Given the description of an element on the screen output the (x, y) to click on. 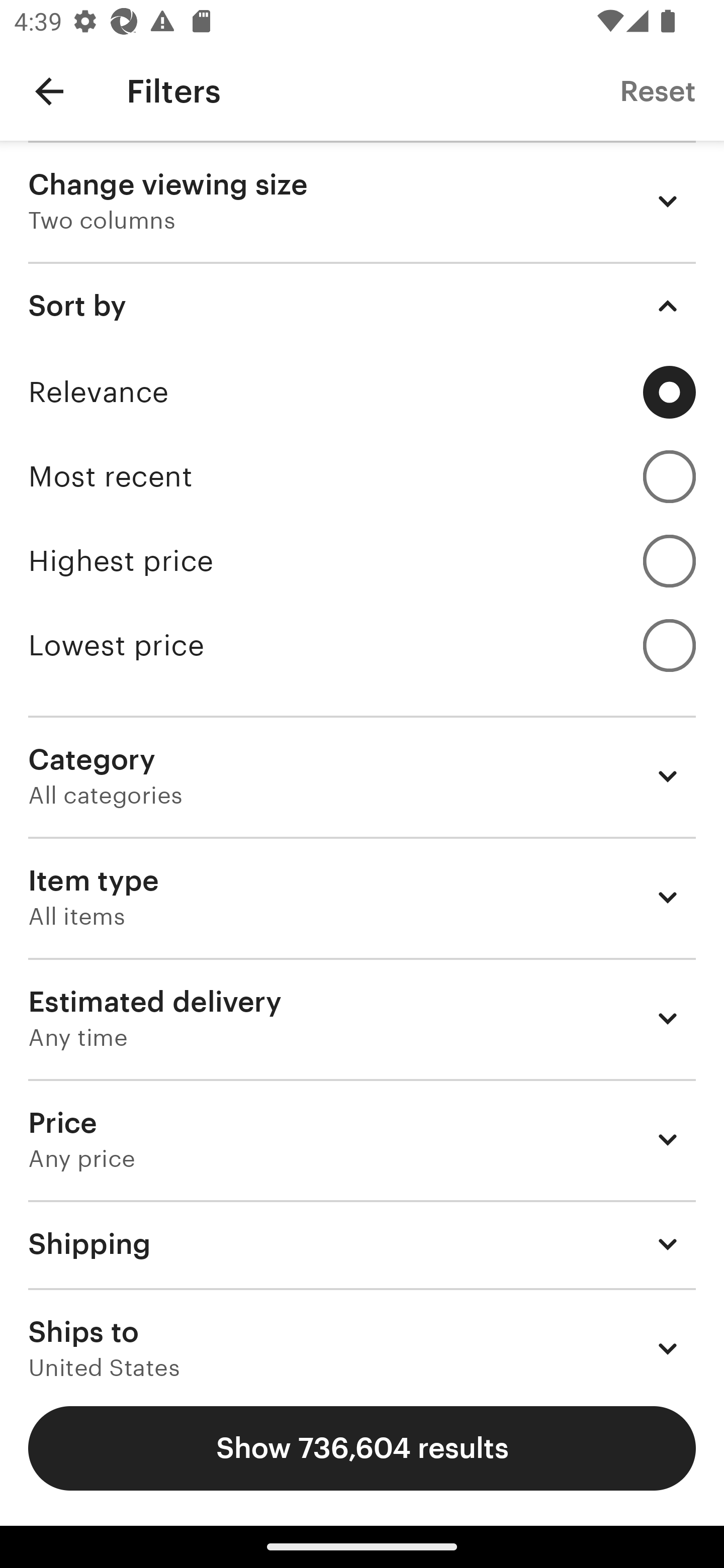
Navigate up (49, 91)
Reset (657, 90)
Change viewing size Two columns (362, 201)
Sort by (362, 305)
Relevance (362, 391)
Most recent (362, 476)
Highest price (362, 561)
Lowest price (362, 644)
Category All categories (362, 776)
Item type All items (362, 897)
Estimated delivery Any time (362, 1018)
Price Any price (362, 1138)
Shipping (362, 1243)
Ships to United States (362, 1332)
Show 736,604 results Show results (361, 1448)
